Given the description of an element on the screen output the (x, y) to click on. 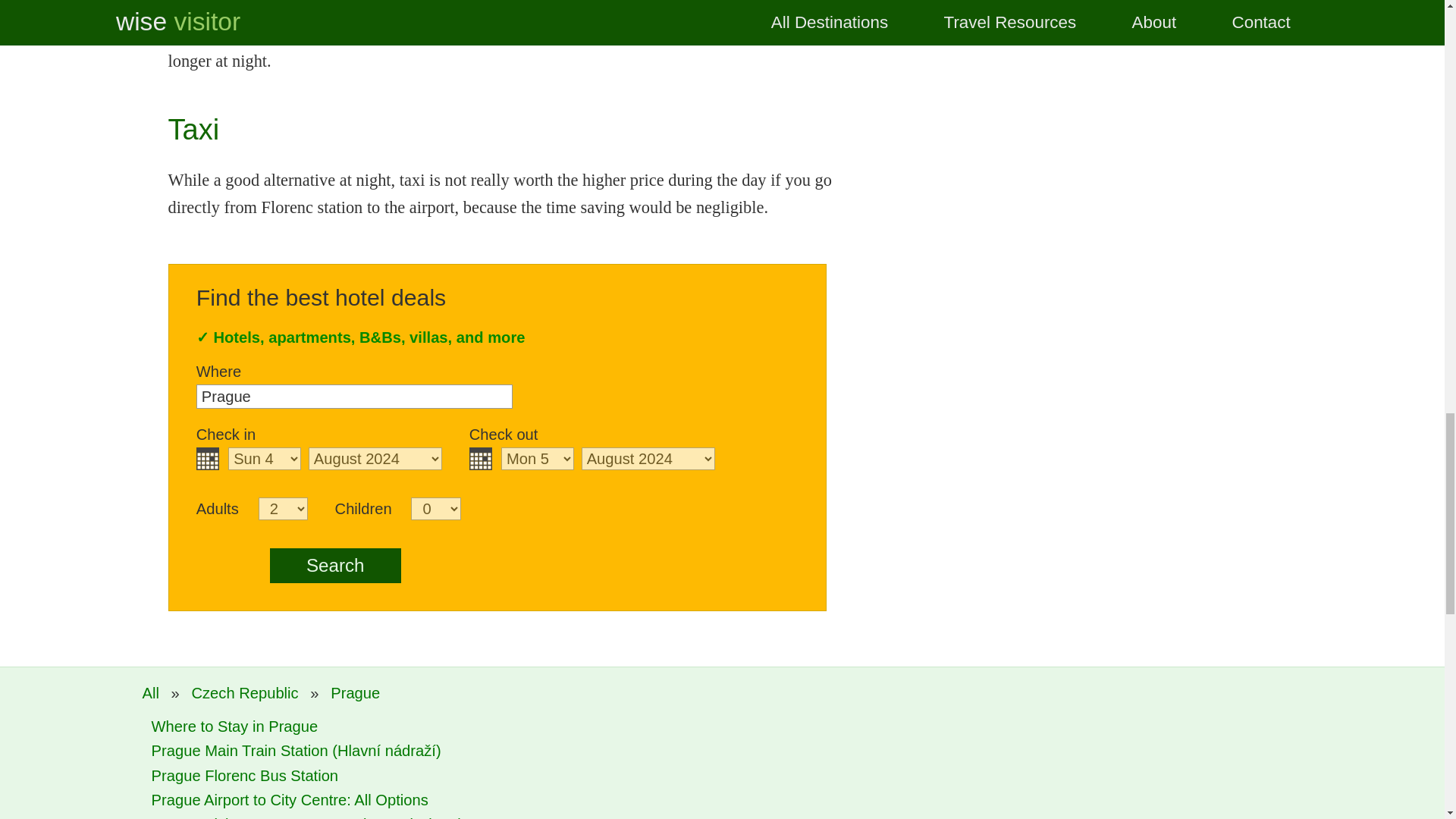
Open calendar and pick a date (207, 458)
Prague (354, 396)
Open calendar and pick a date (480, 458)
